Given the description of an element on the screen output the (x, y) to click on. 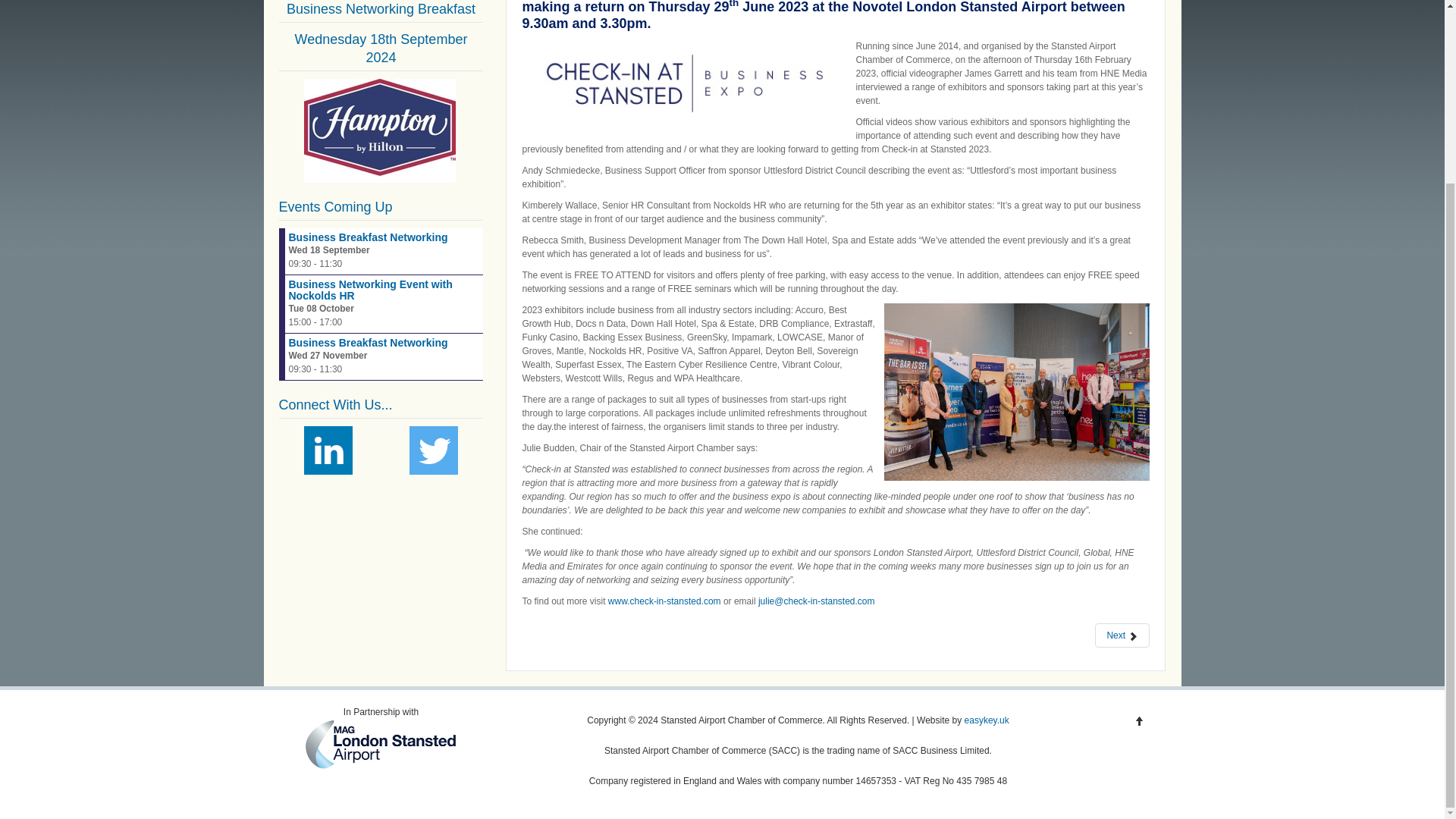
www.check-in-stansted.com (664, 601)
Business Breakfast Networking (367, 236)
Back to top (1139, 719)
Business Networking Event with Nockolds HR (369, 290)
Next (1122, 635)
easykey.uk (986, 719)
Check-in at Stansted Business Exhibition (664, 601)
Business Breakfast Networking (367, 342)
